Given the description of an element on the screen output the (x, y) to click on. 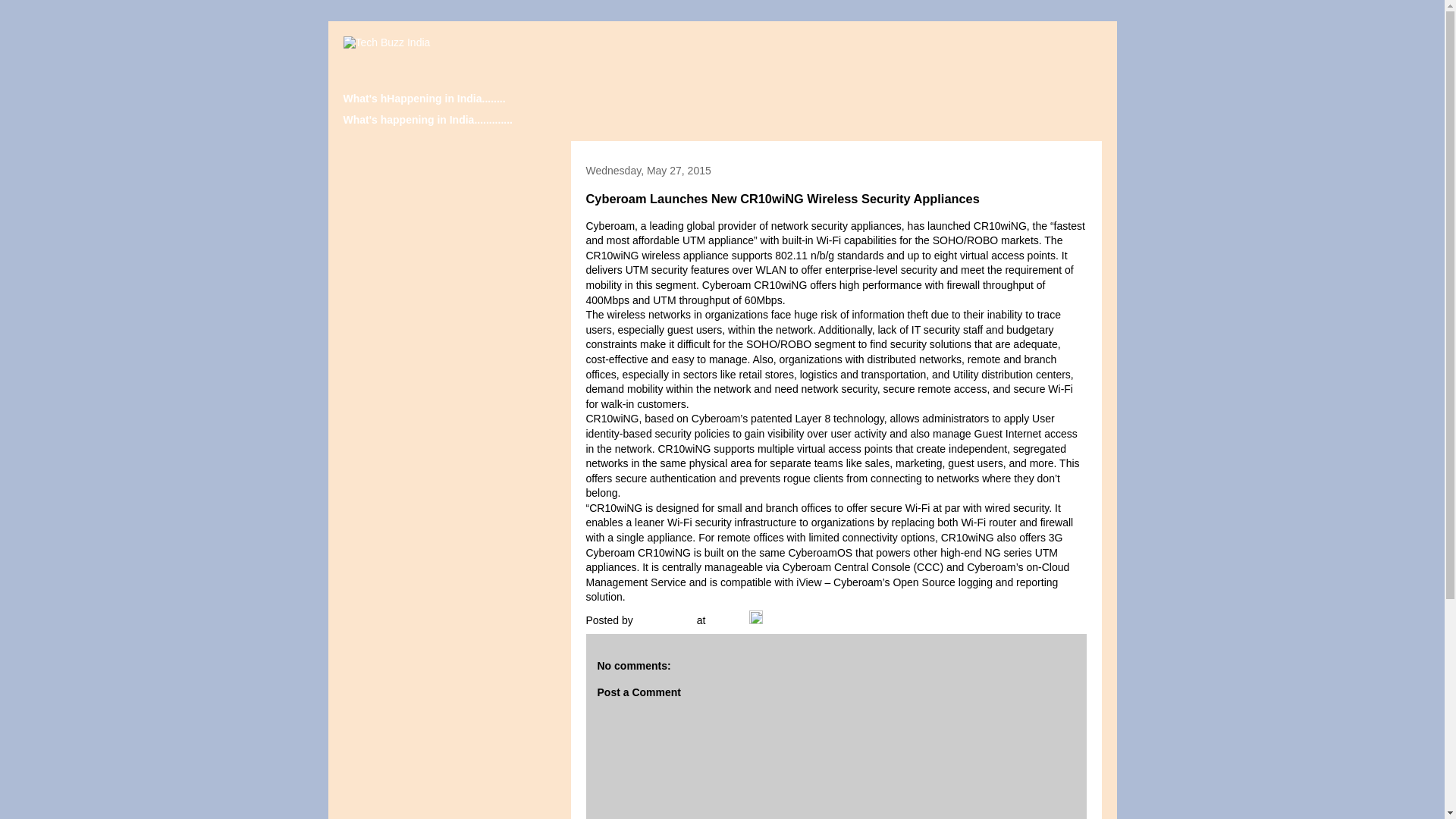
permanent link (726, 620)
Edit Post (755, 620)
News Room (666, 620)
author profile (666, 620)
